Given the description of an element on the screen output the (x, y) to click on. 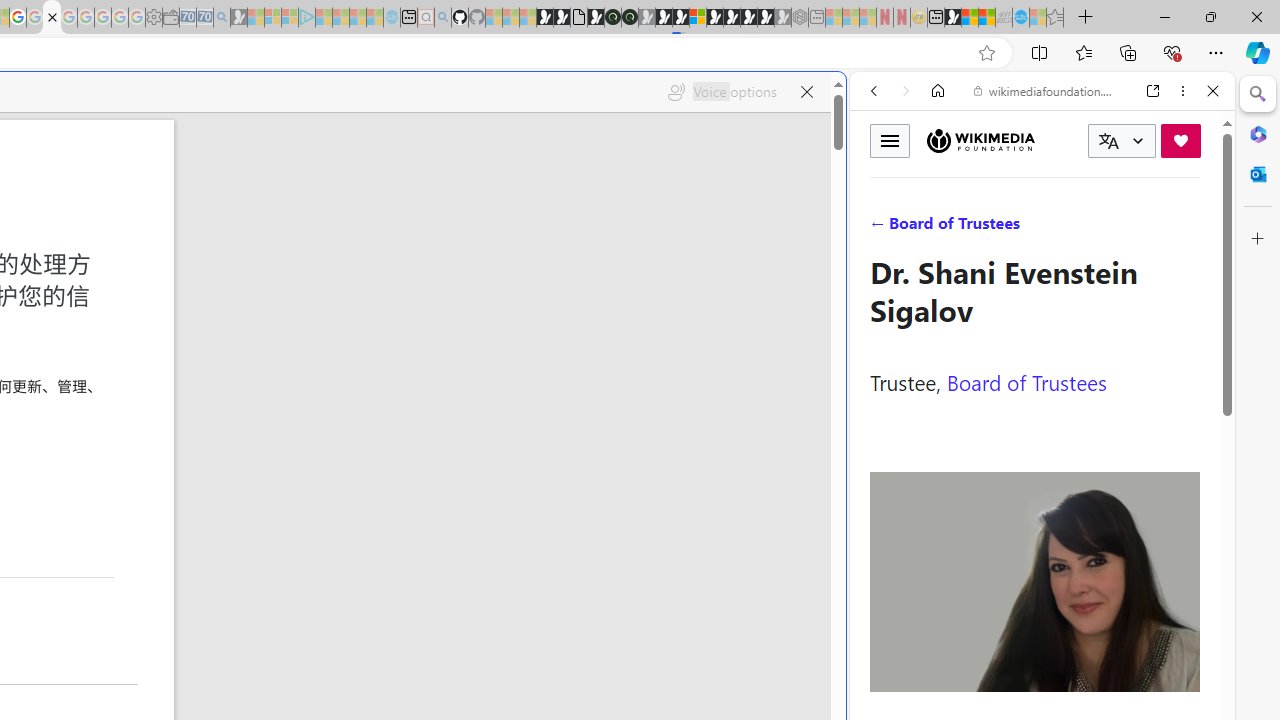
Global web icon (888, 669)
This site scope (936, 180)
World - MSN (969, 17)
Cheap Car Rentals - Save70.com - Sleeping (204, 17)
Close read aloud (805, 92)
Toggle menu (890, 140)
Play Cave FRVR in your browser | Games from Microsoft Start (343, 426)
Navy Quest (1003, 17)
Microsoft Start - Sleeping (357, 17)
IMAGES (939, 228)
